Given the description of an element on the screen output the (x, y) to click on. 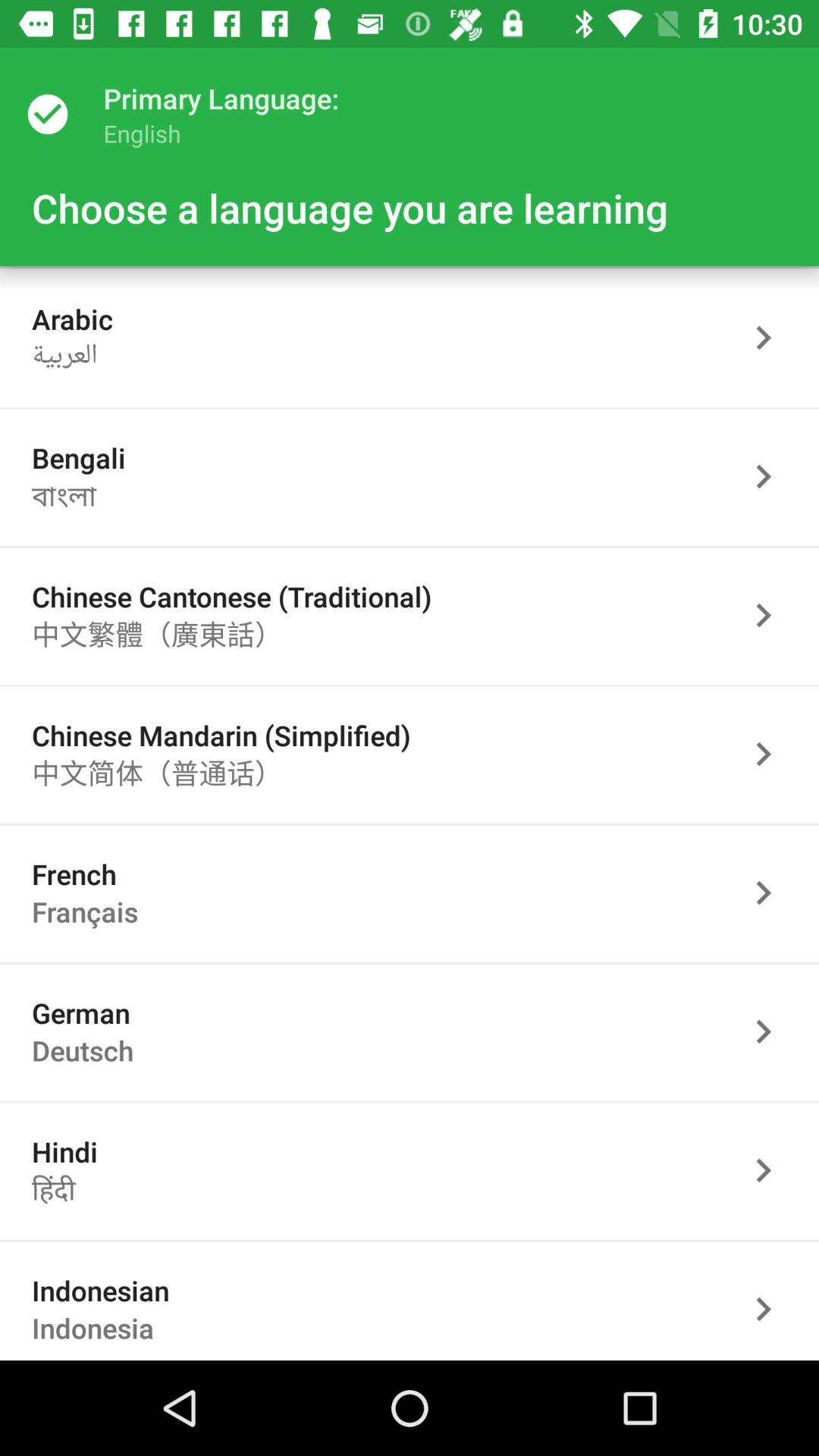
choose french language (771, 892)
